Given the description of an element on the screen output the (x, y) to click on. 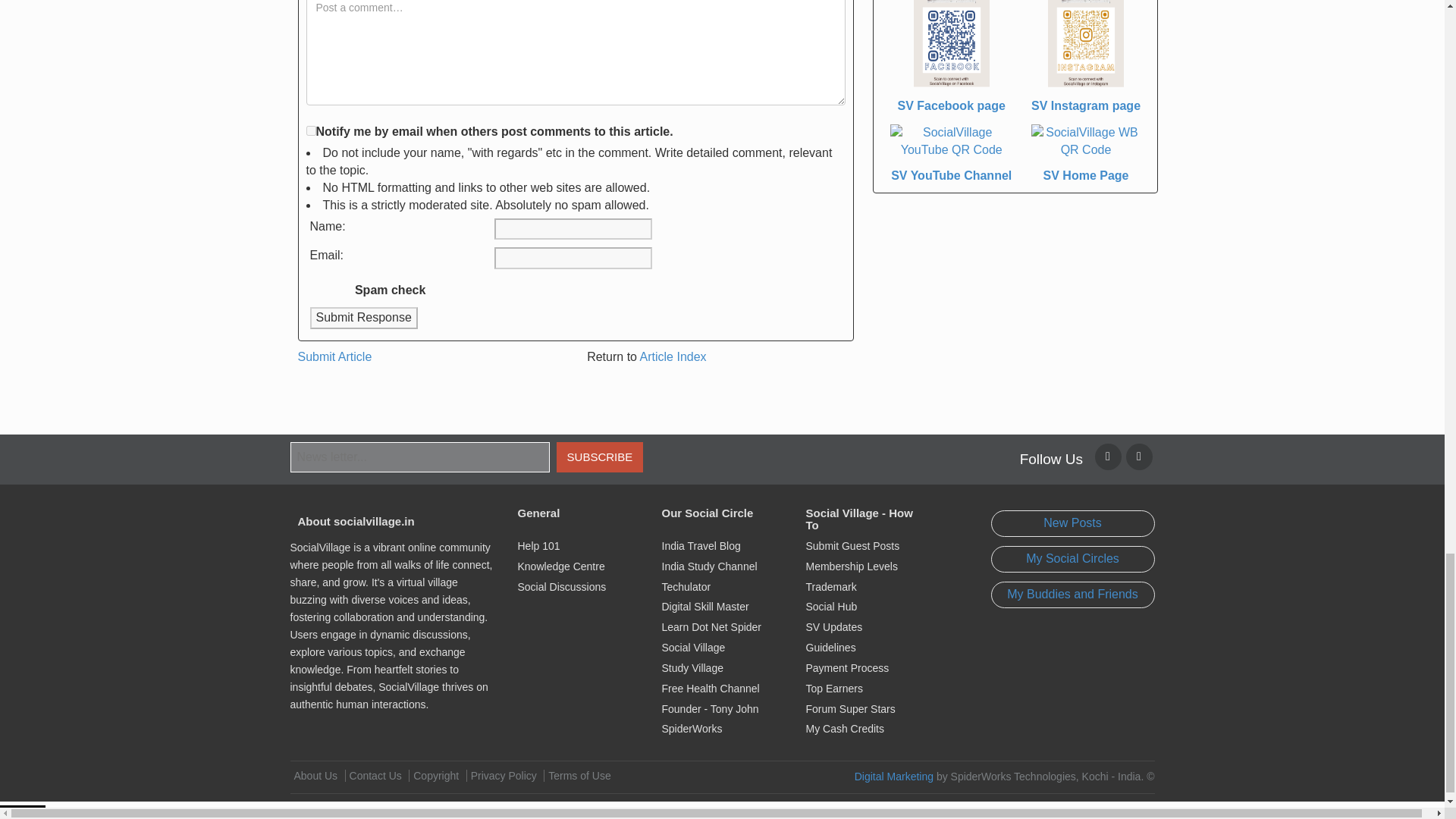
Article Index (673, 356)
Submit Article (334, 356)
Submit Response (362, 318)
Submit Response (362, 318)
on (310, 130)
